Given the description of an element on the screen output the (x, y) to click on. 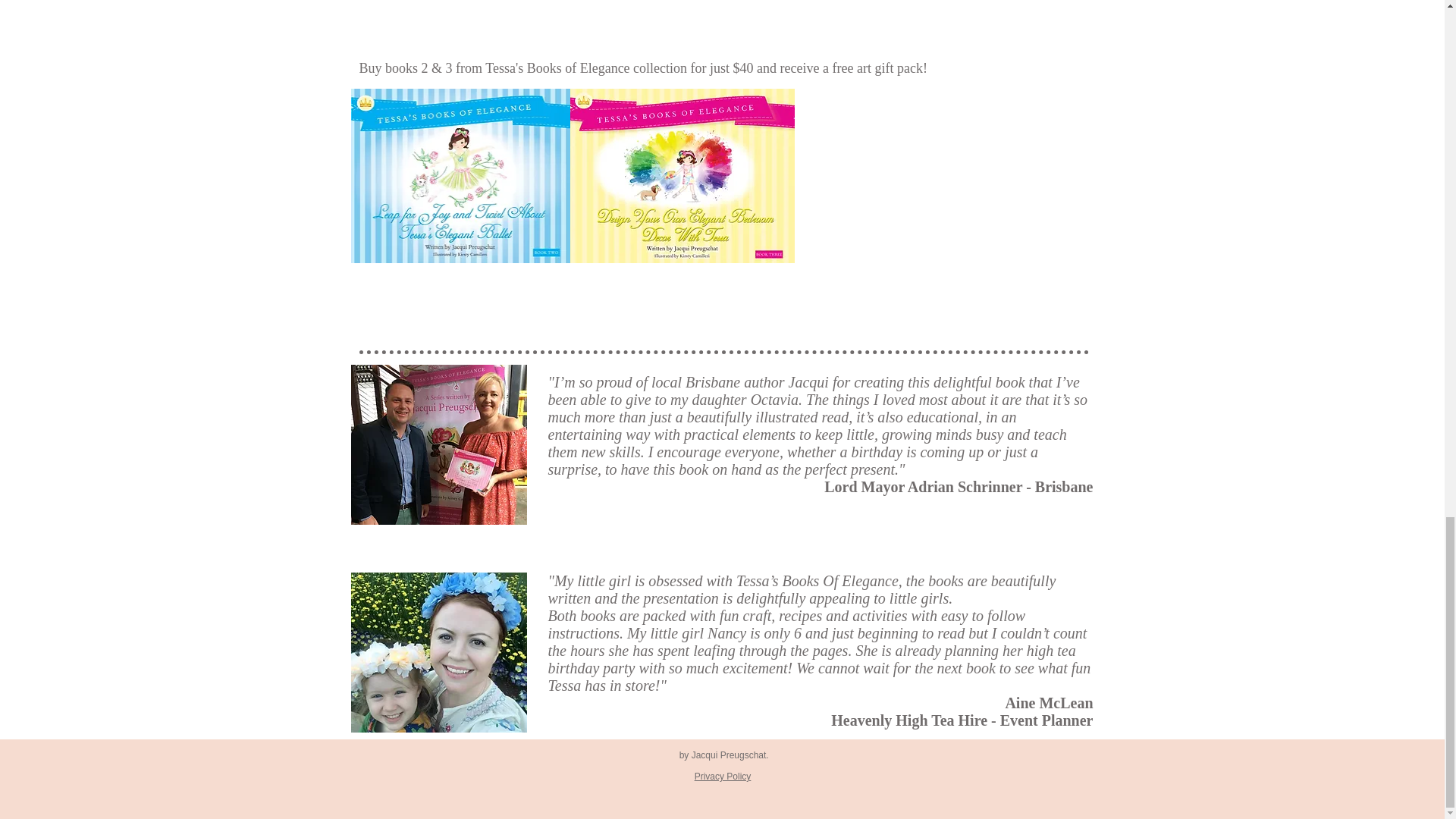
Privacy Policy (722, 776)
